Given the description of an element on the screen output the (x, y) to click on. 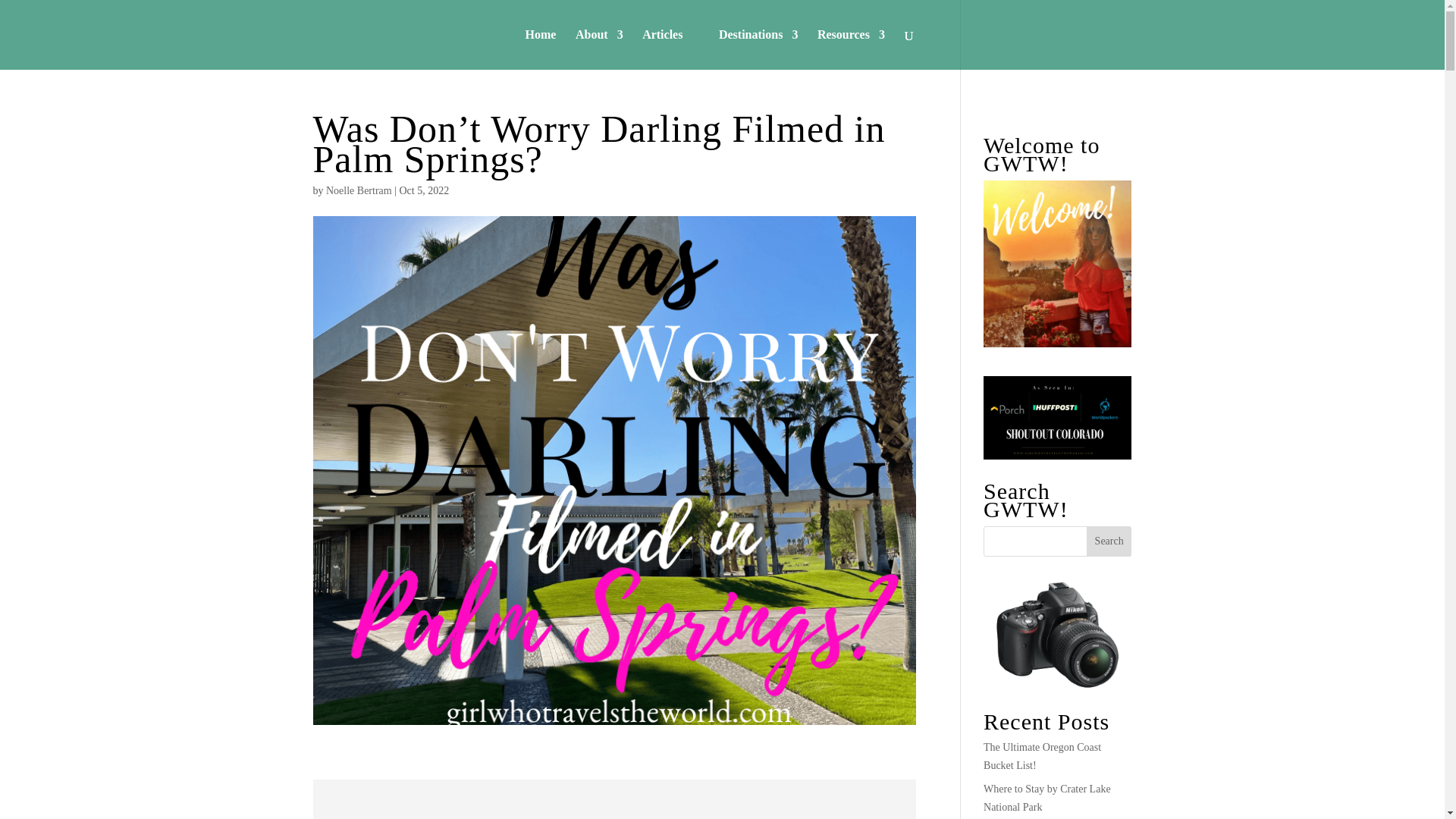
Noelle Bertram (358, 190)
Destinations (758, 49)
Home (540, 49)
Articles (662, 49)
About (599, 49)
Posts by Noelle Bertram (358, 190)
Resources (850, 49)
Search (1109, 541)
